Given the description of an element on the screen output the (x, y) to click on. 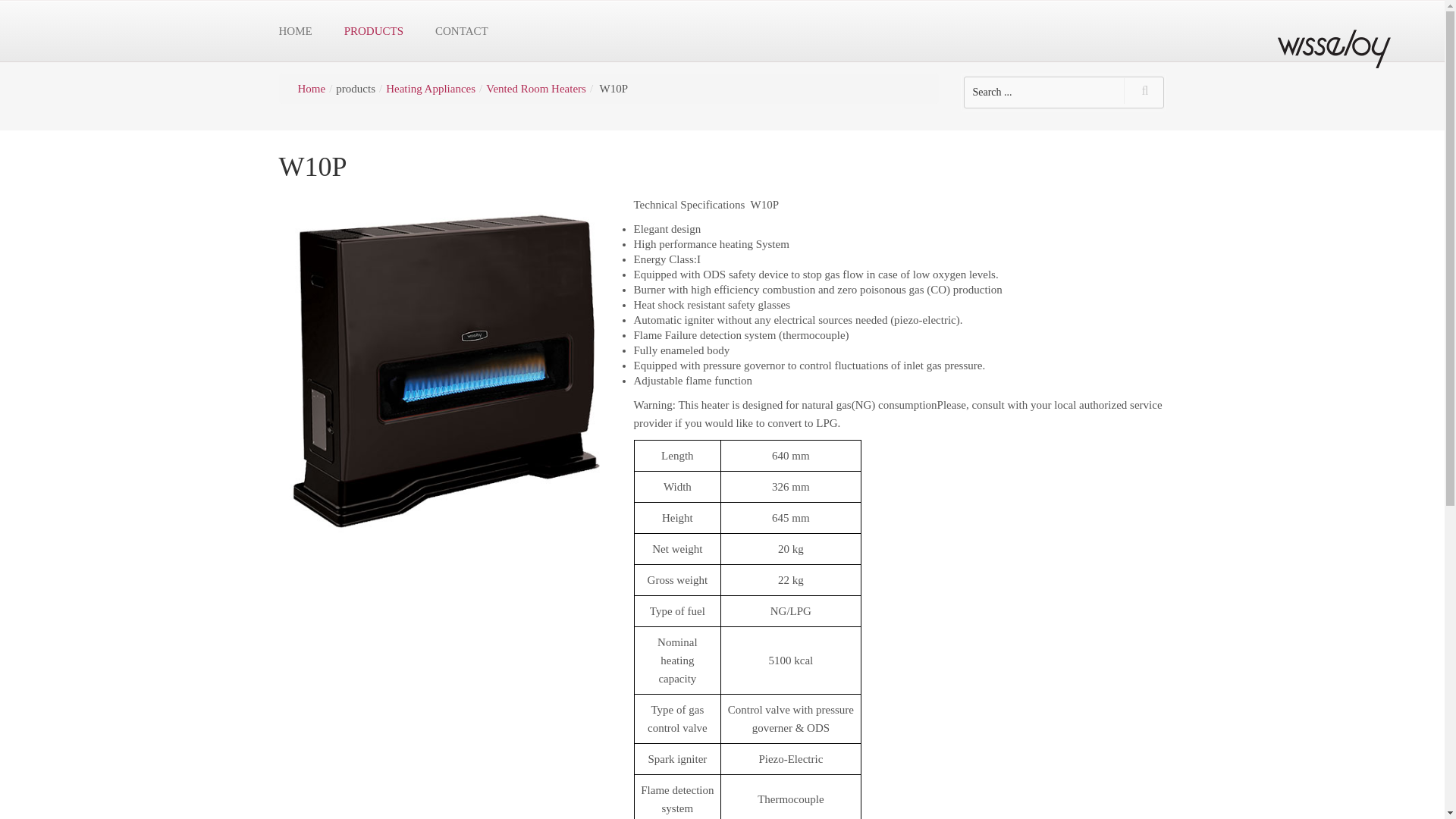
PRODUCTS (374, 30)
Search ... (1063, 92)
CONTACT (461, 30)
